Given the description of an element on the screen output the (x, y) to click on. 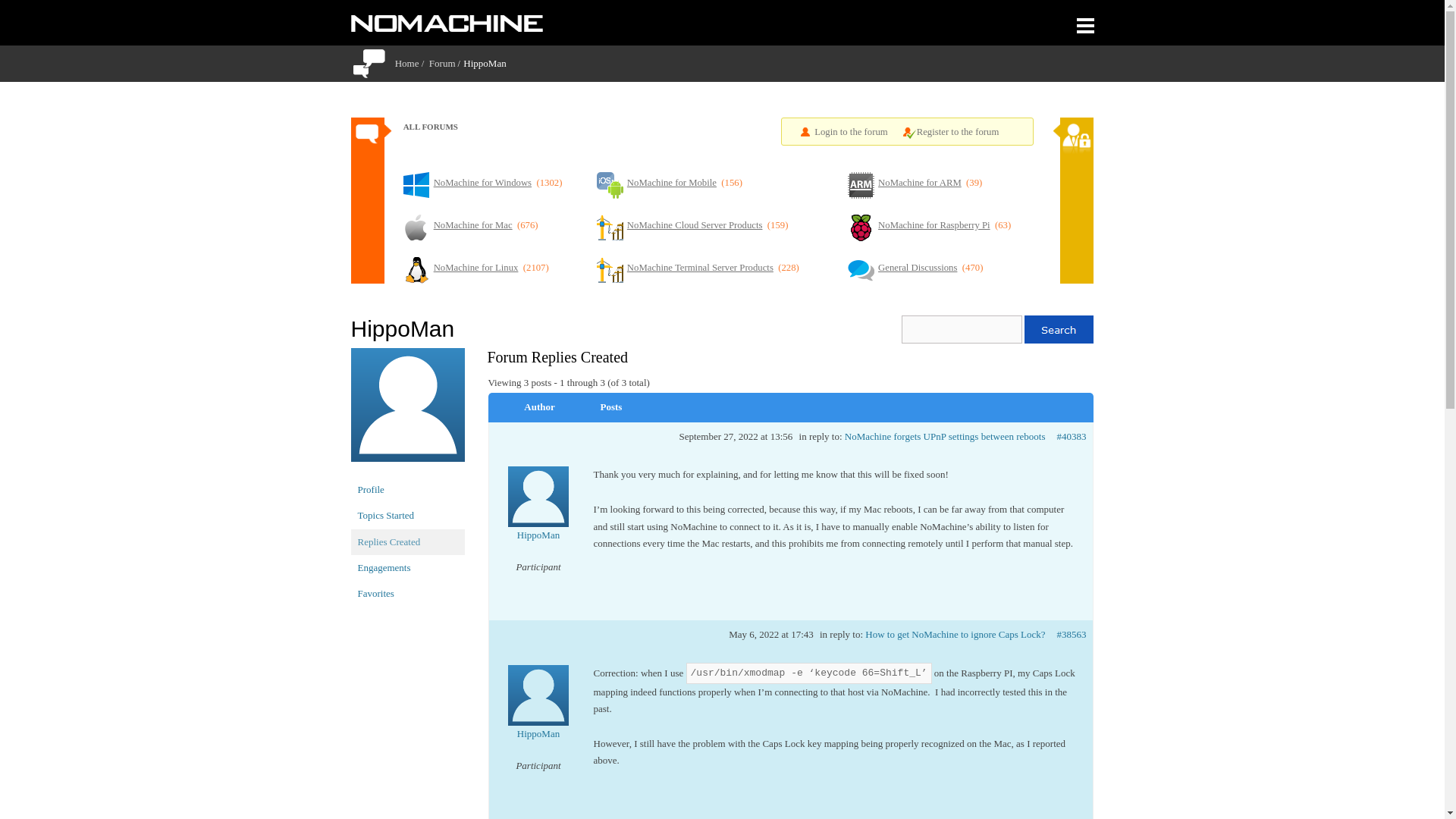
HippoMan's Replies Created (407, 542)
View HippoMan's profile (537, 514)
View HippoMan's profile (537, 712)
HippoMan's Topics Started (407, 515)
HippoMan's Favorites (407, 593)
HippoMan (407, 410)
HippoMan's Engagements (407, 567)
HippoMan's Profile (407, 489)
